Given the description of an element on the screen output the (x, y) to click on. 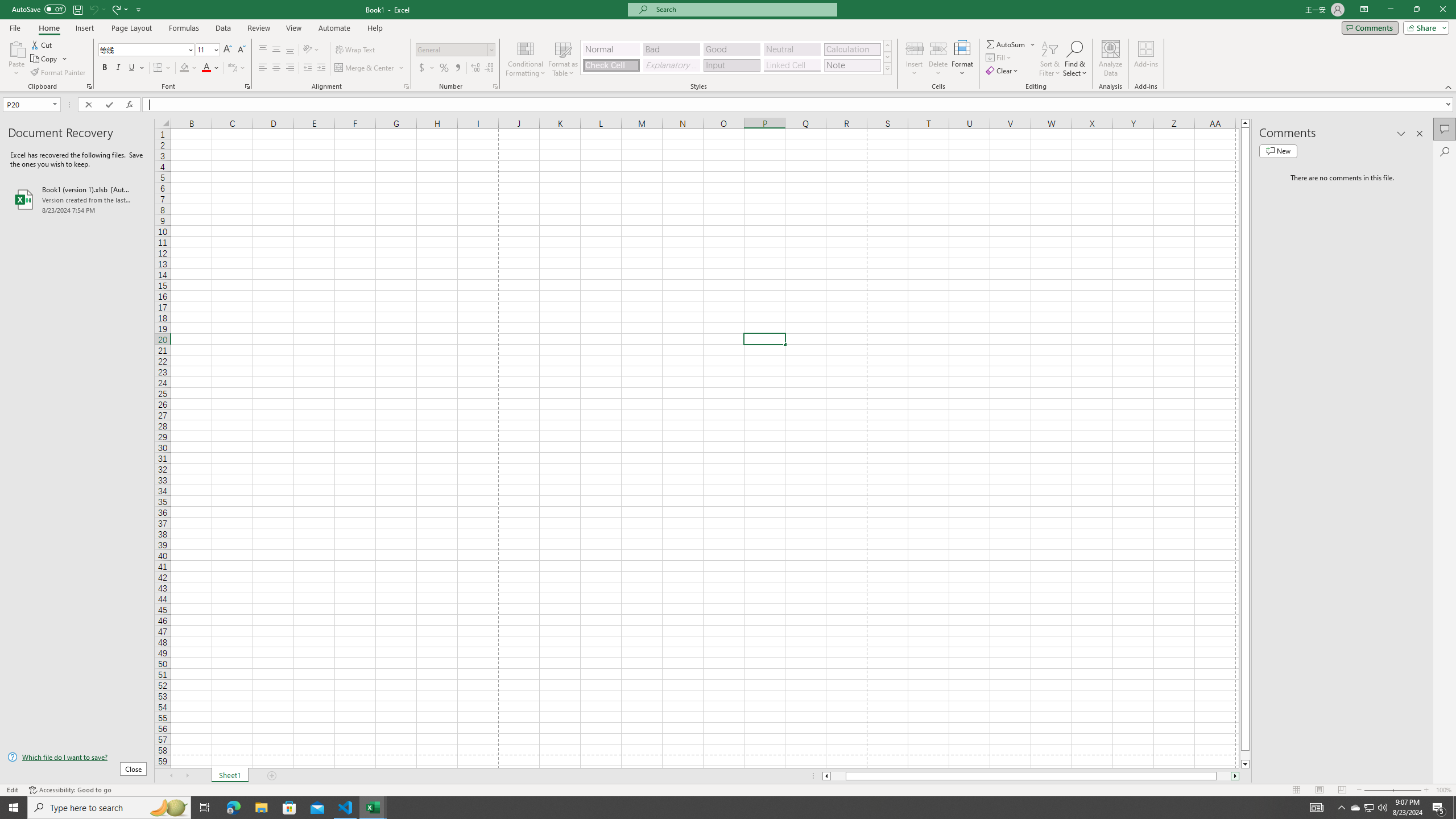
Format Painter (58, 72)
Show Phonetic Field (231, 67)
Underline (131, 67)
Merge & Center (365, 67)
Borders (162, 67)
Italic (118, 67)
Font Size (204, 49)
